Given the description of an element on the screen output the (x, y) to click on. 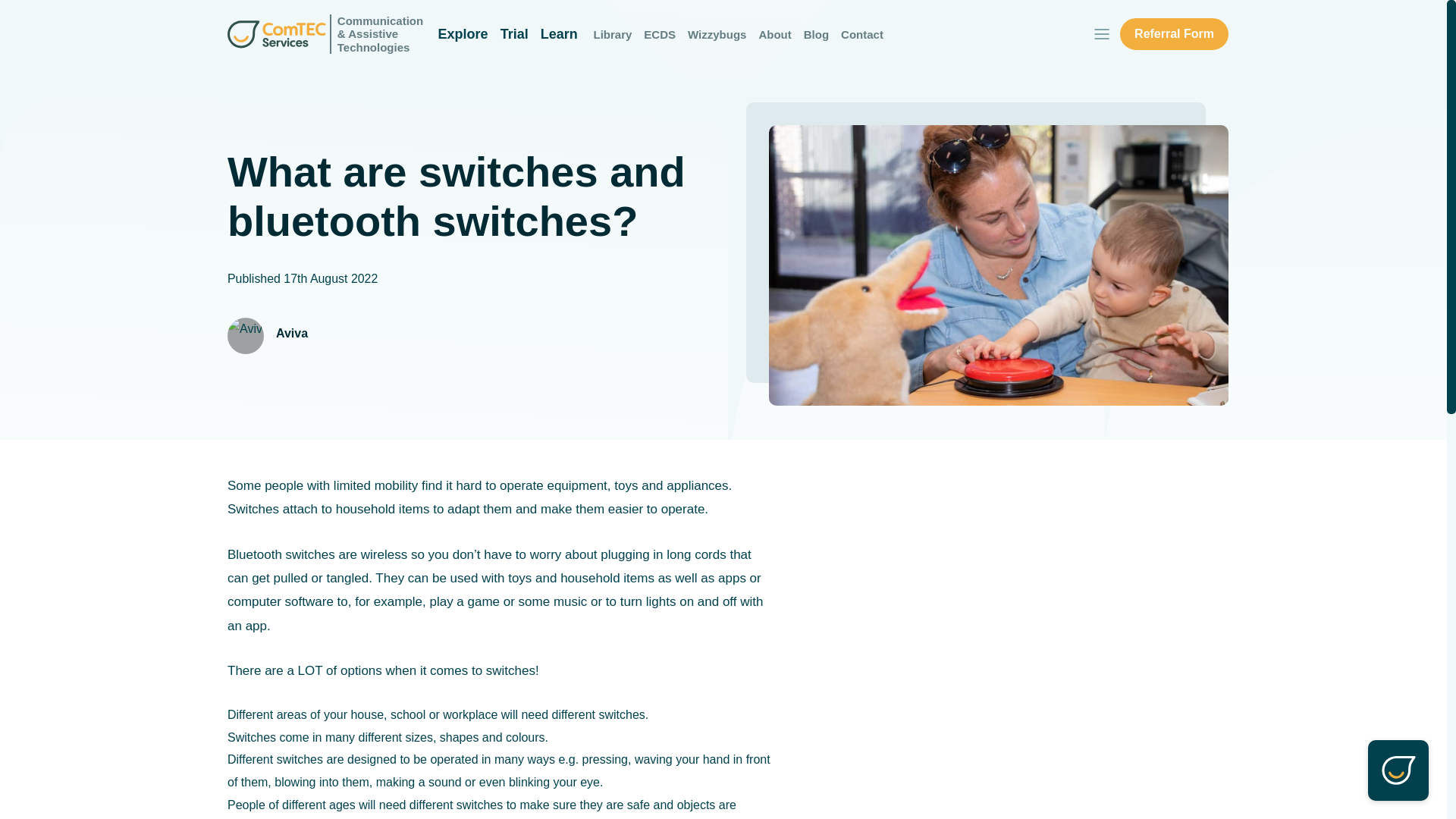
Referral Form (1173, 33)
Menu (1101, 33)
Big Red Switch (998, 265)
